Given the description of an element on the screen output the (x, y) to click on. 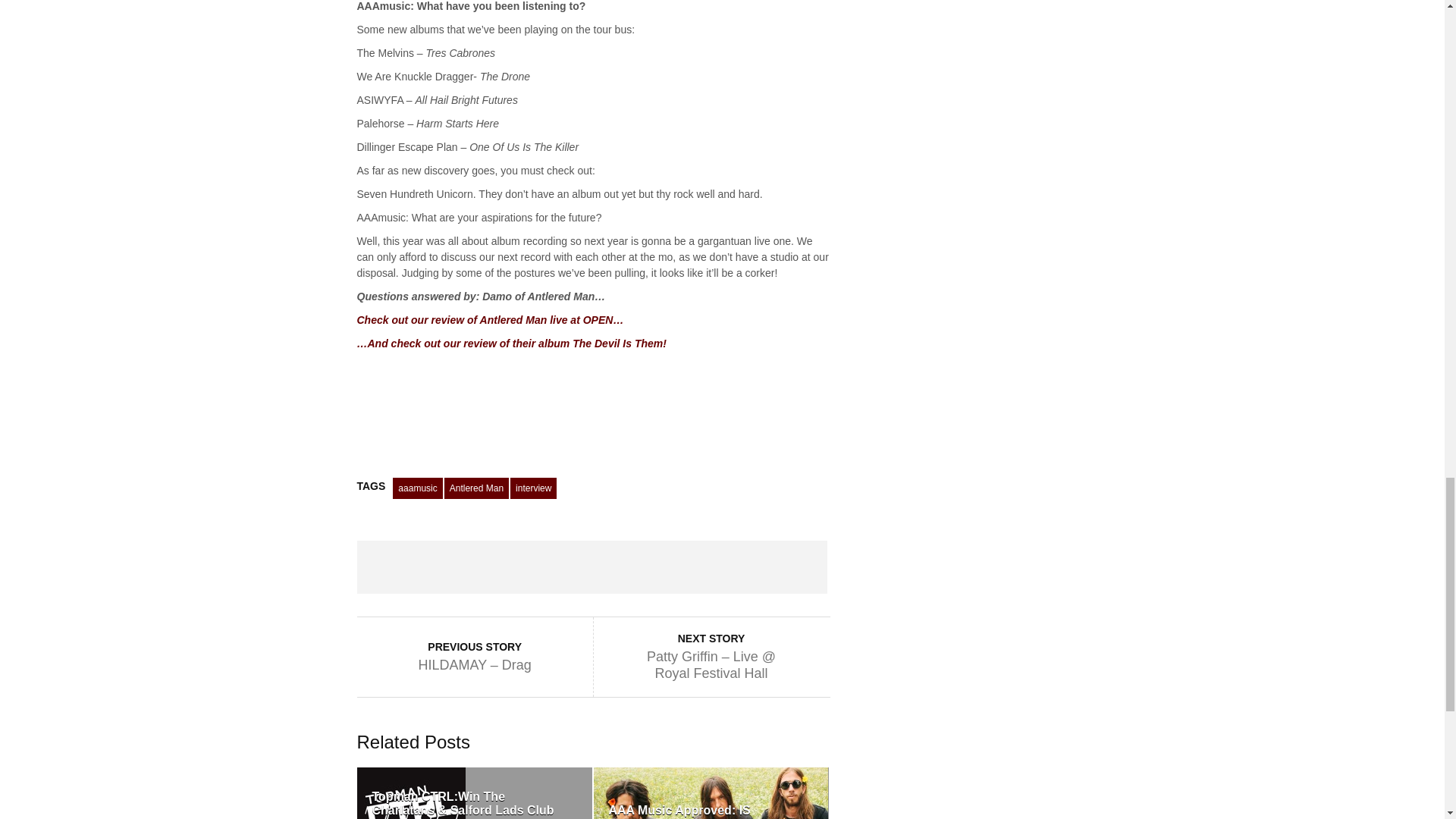
Tweet This (497, 566)
Share on Facebook (402, 566)
aaamusic (417, 487)
Share on Google Plus (591, 566)
Antlered Man (476, 487)
interview (533, 487)
Tweet This (497, 566)
Pin This (686, 566)
Share on Facebook (402, 566)
Share on Google Plus (591, 566)
Email This (780, 566)
